Given the description of an element on the screen output the (x, y) to click on. 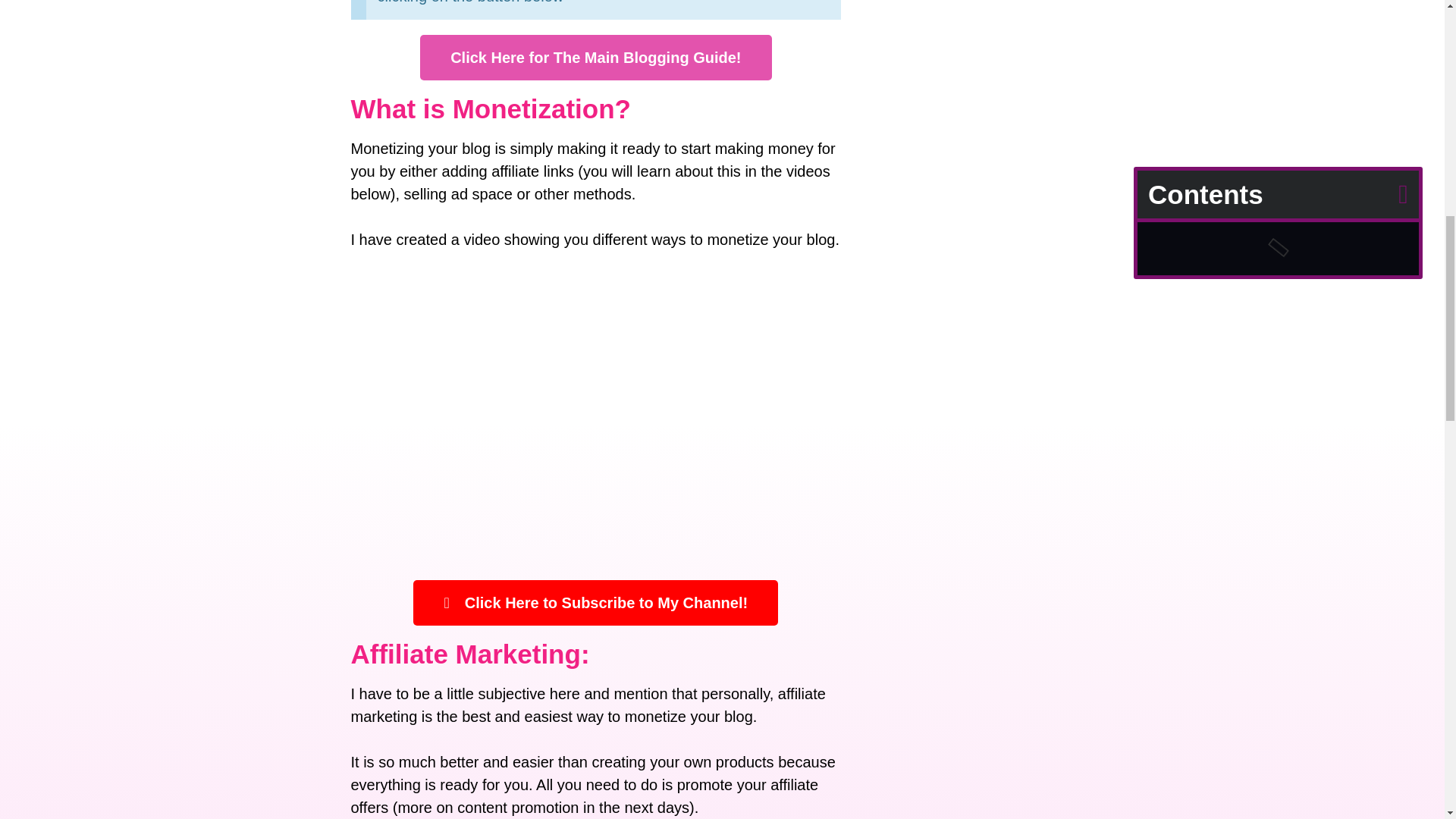
Click Here for The Main Blogging Guide! (595, 57)
Click Here to Subscribe to My Channel! (595, 602)
